Given the description of an element on the screen output the (x, y) to click on. 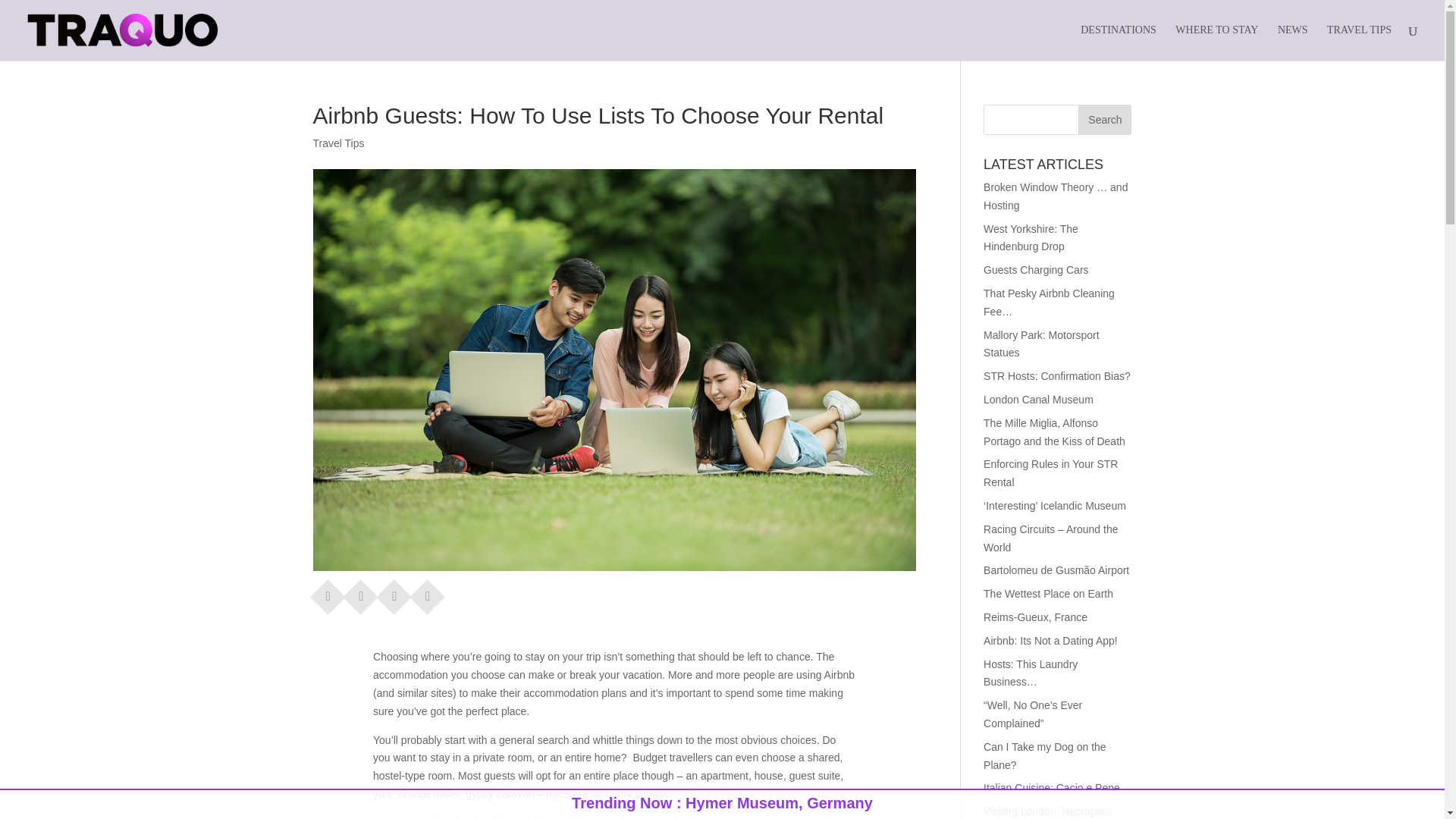
Search (1104, 119)
Visiting London: Necropolis (1048, 811)
West Yorkshire: The Hindenburg Drop (1031, 237)
Share on Pinterest (394, 591)
DESTINATIONS (1118, 42)
Mallory Park: Motorsport Statues (1041, 344)
TRAVEL TIPS (1358, 42)
Share on Facebook (328, 591)
Travel Tips (338, 143)
WHERE TO STAY (1215, 42)
